Given the description of an element on the screen output the (x, y) to click on. 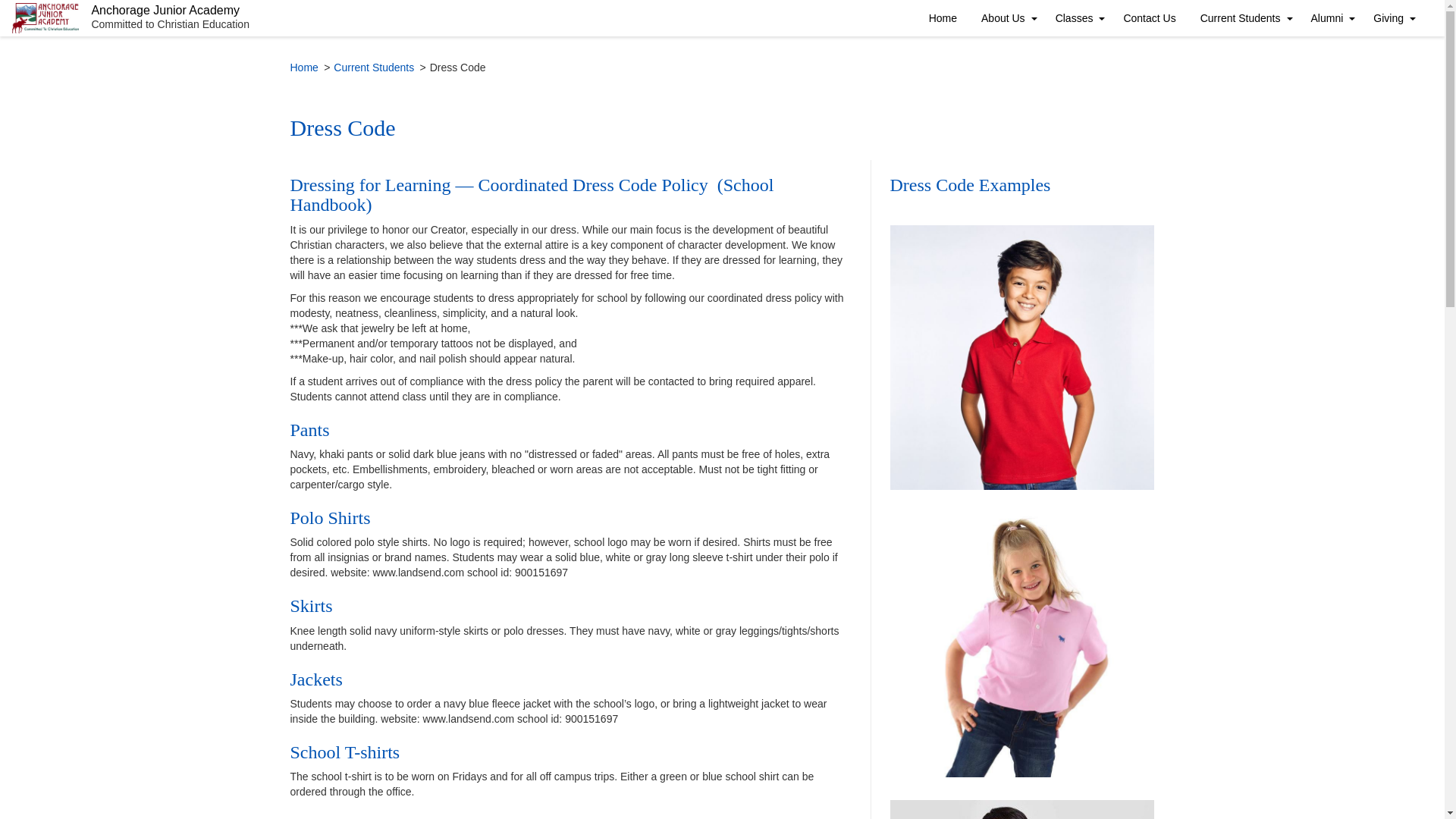
Anchorage Junior Academy (169, 10)
Classes (1077, 18)
Current Students (1243, 18)
Contact Us (1149, 18)
About Us (1006, 18)
Giving (1391, 18)
Home (303, 68)
Current Students (373, 68)
Home (943, 18)
Alumni (1329, 18)
